Given the description of an element on the screen output the (x, y) to click on. 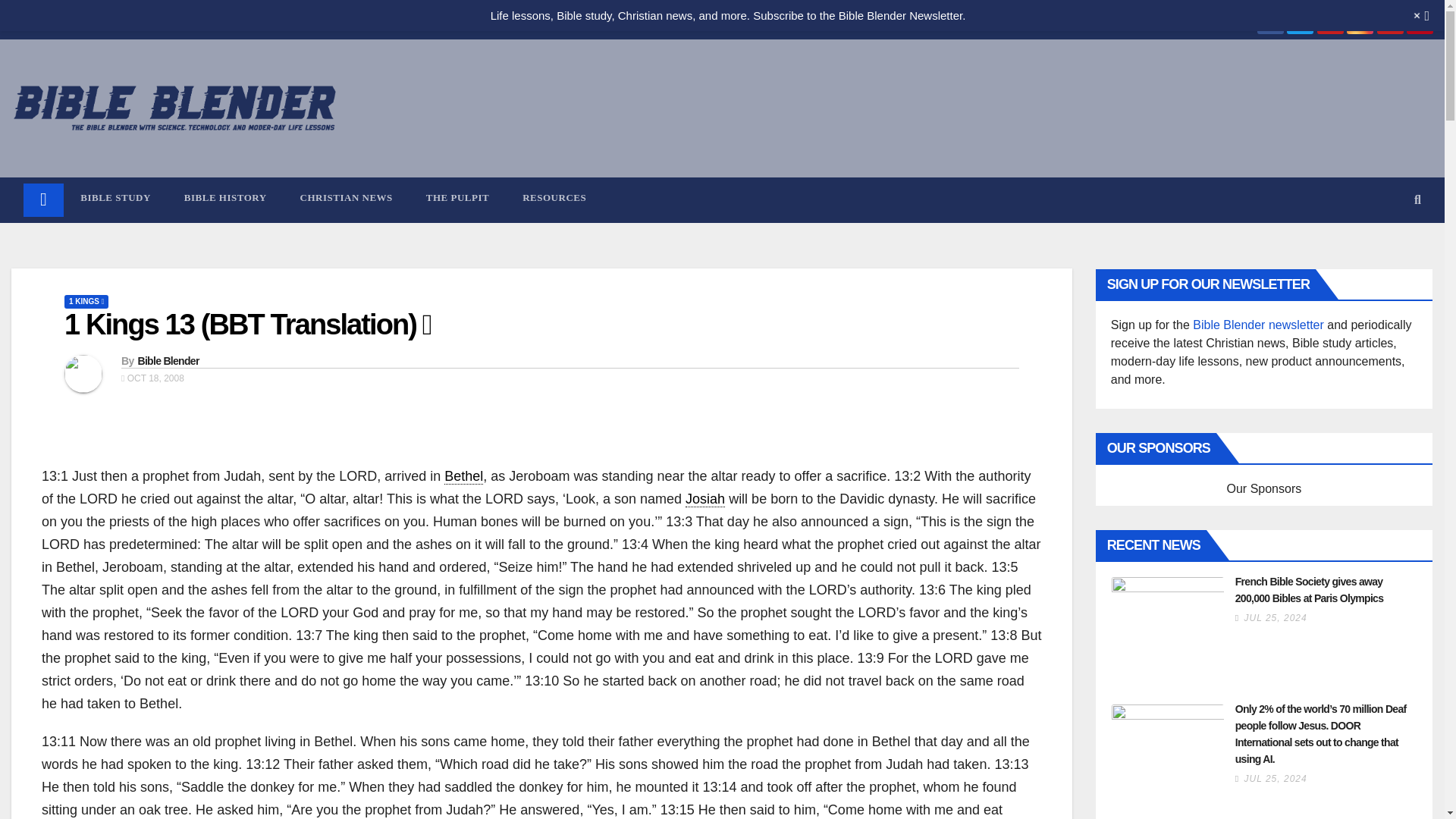
Home (1233, 21)
Home (43, 200)
BIBLE STUDY (115, 197)
Bible Study (115, 197)
